Given the description of an element on the screen output the (x, y) to click on. 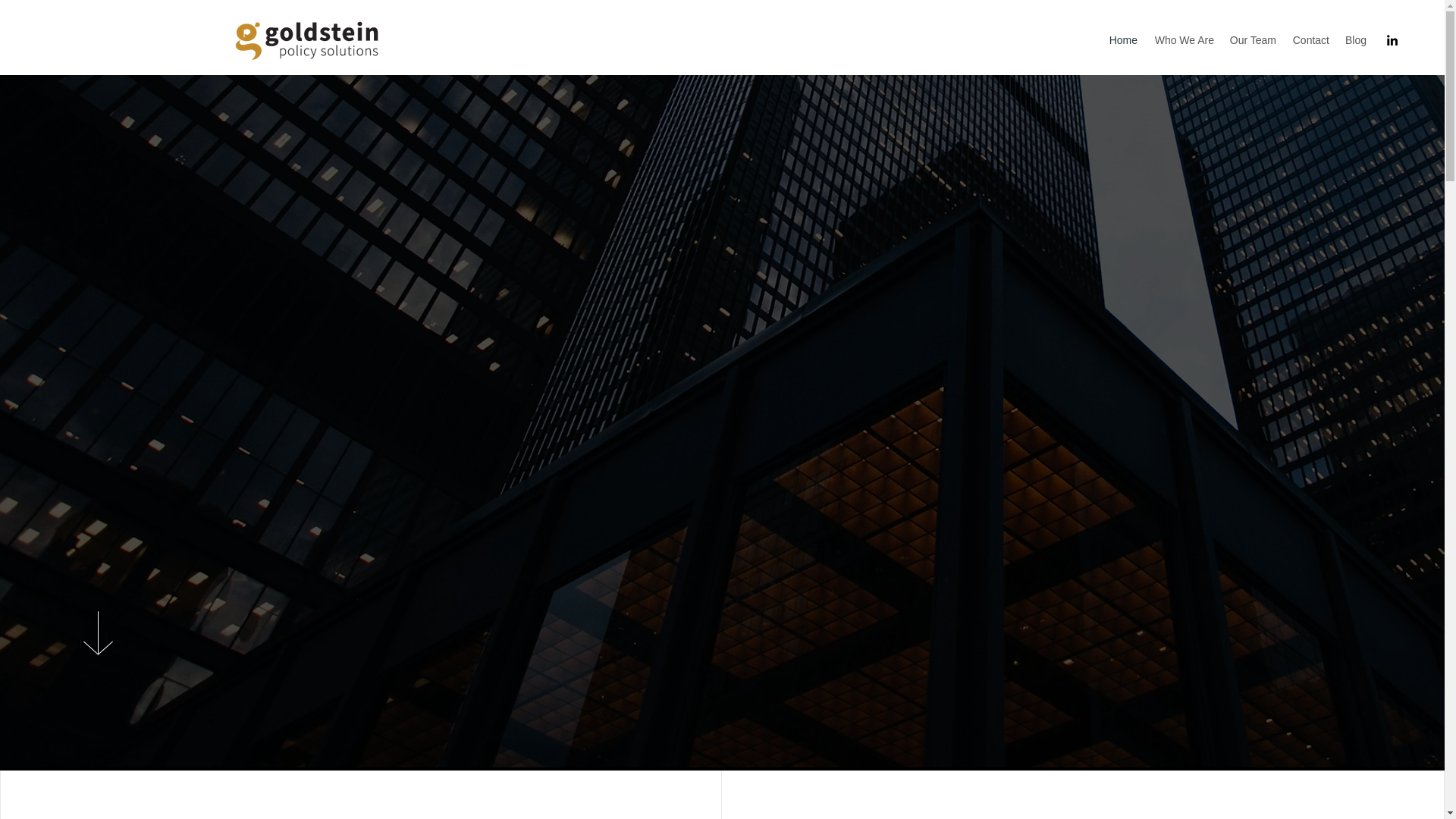
Contact (1310, 39)
Blog (1355, 39)
Who We Are (1182, 39)
Our Team (1252, 39)
Home (1122, 39)
